Given the description of an element on the screen output the (x, y) to click on. 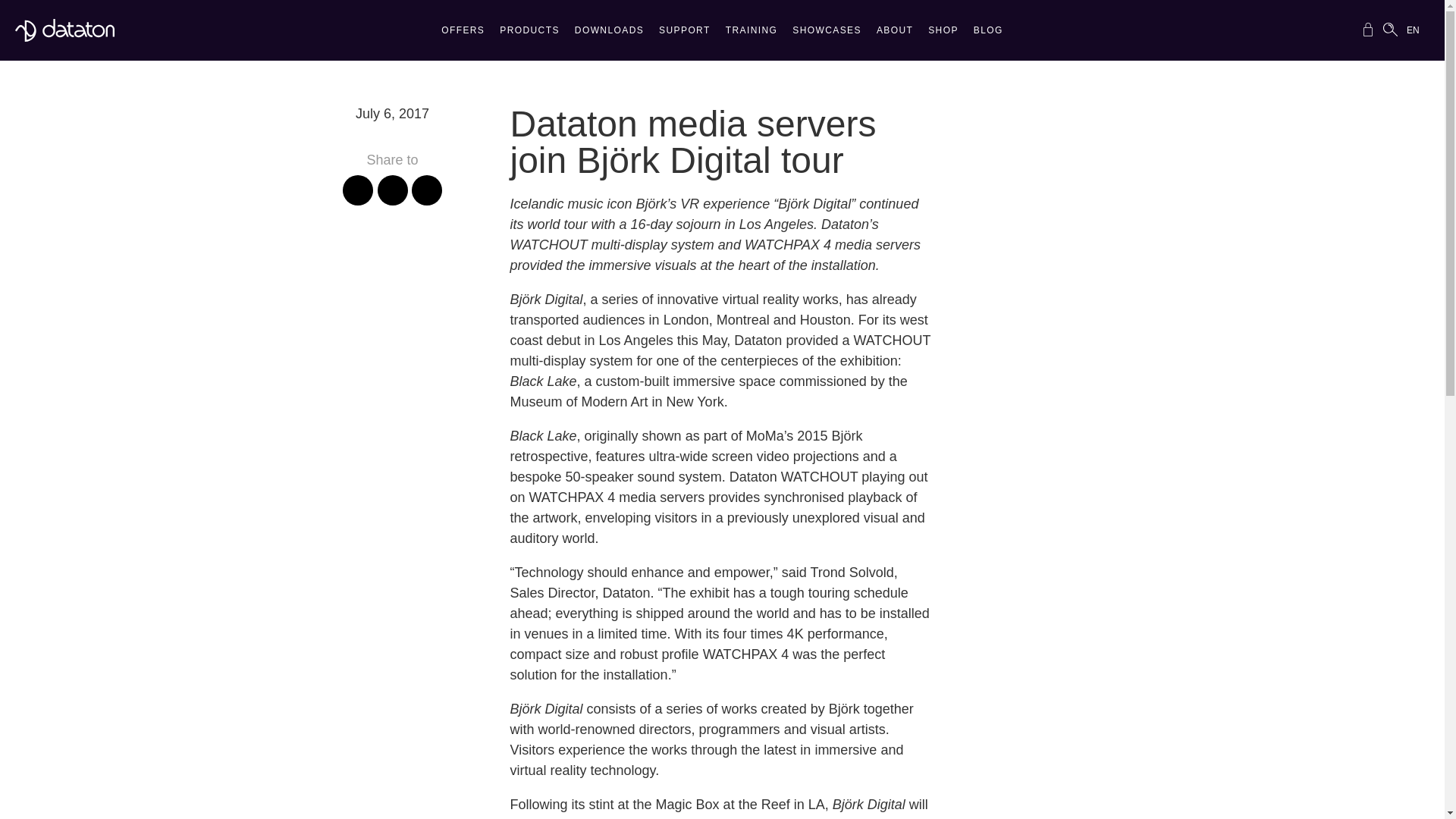
DOWNLOADS (608, 34)
SHOWCASES (826, 34)
ABOUT (894, 34)
OFFERS (462, 34)
TRAINING (751, 34)
PRODUCTS (529, 34)
SUPPORT (683, 34)
